Given the description of an element on the screen output the (x, y) to click on. 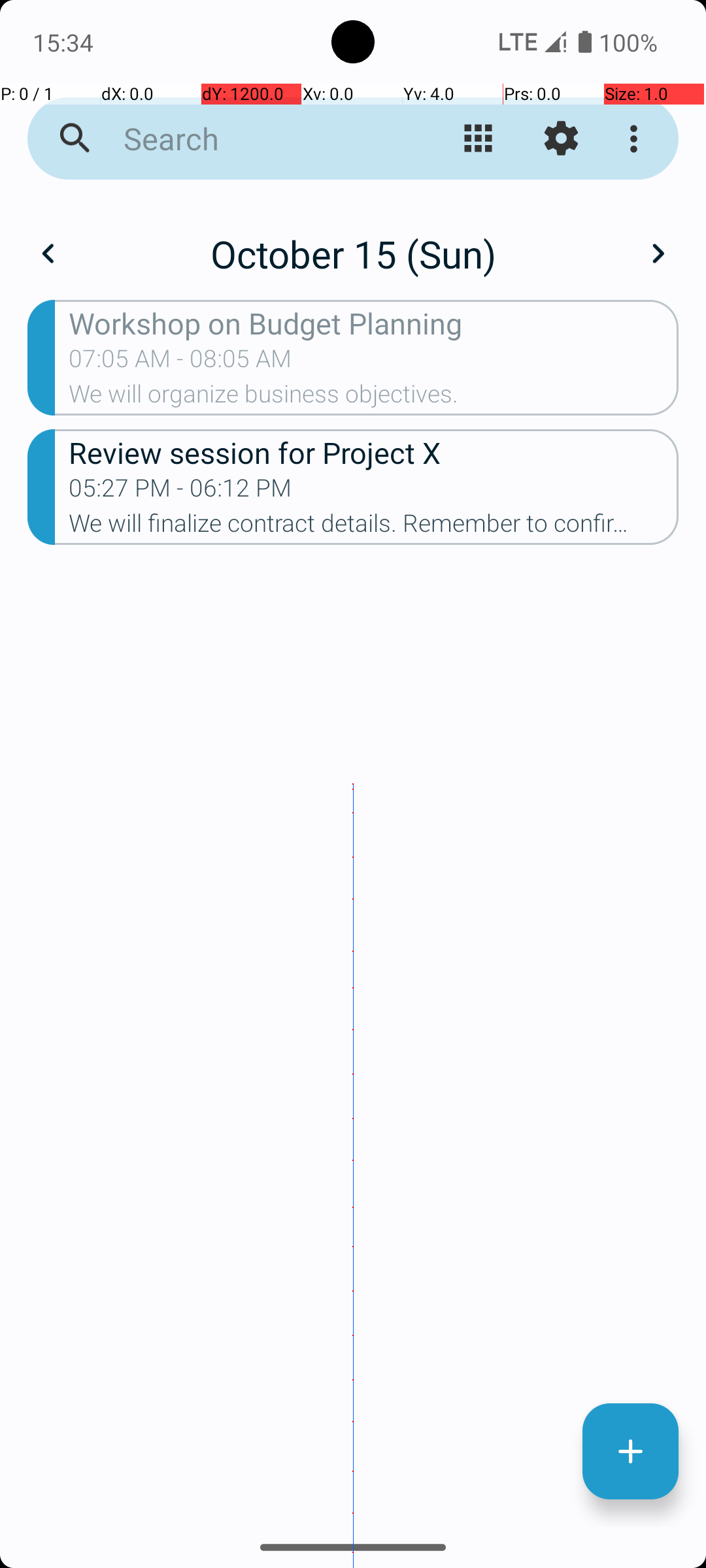
07:05 AM - 08:05 AM Element type: android.widget.TextView (179, 362)
We will organize business objectives. Element type: android.widget.TextView (373, 397)
05:27 PM - 06:12 PM Element type: android.widget.TextView (179, 491)
We will finalize contract details. Remember to confirm attendance. Element type: android.widget.TextView (373, 526)
